Given the description of an element on the screen output the (x, y) to click on. 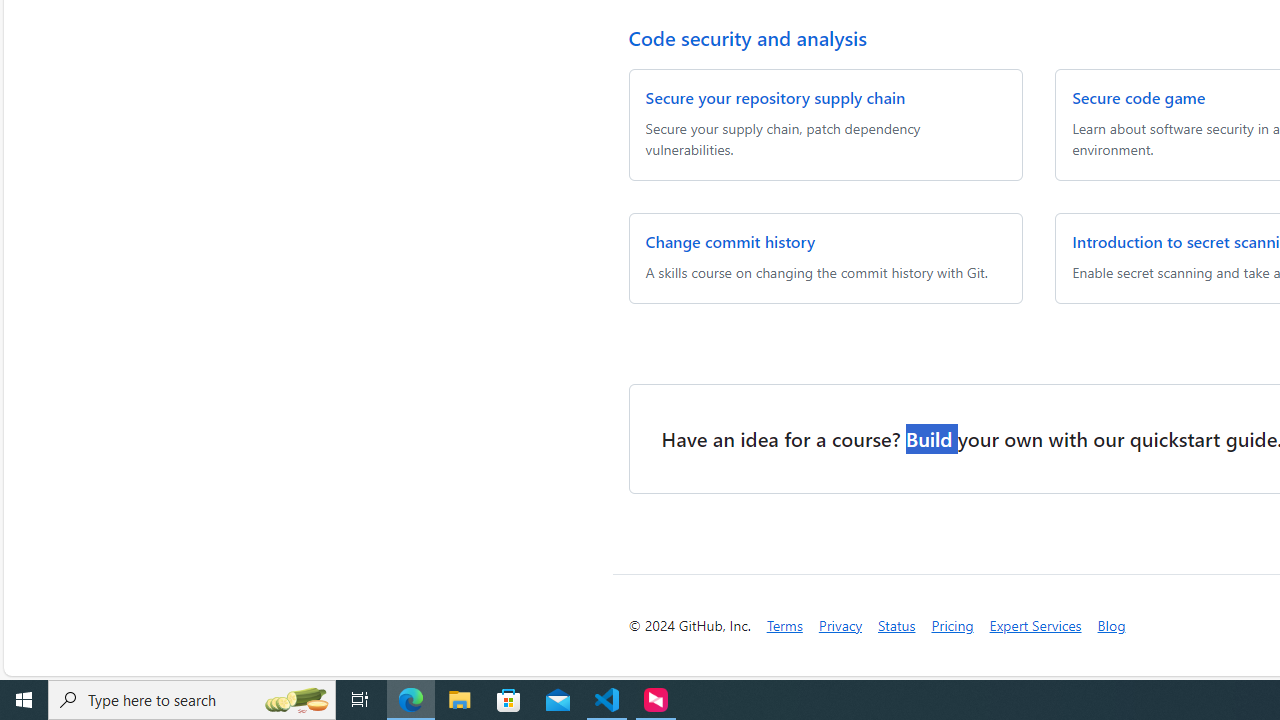
Blog (1111, 624)
Pricing (952, 624)
Terms (783, 624)
Secure code game (1138, 97)
Expert Services (1035, 625)
Code security and analysis (747, 37)
Secure your repository supply chain (775, 97)
Terms (783, 625)
Change commit history (730, 241)
Pricing (952, 625)
Status (897, 625)
Blog (1111, 625)
Expert Services (1035, 624)
